Given the description of an element on the screen output the (x, y) to click on. 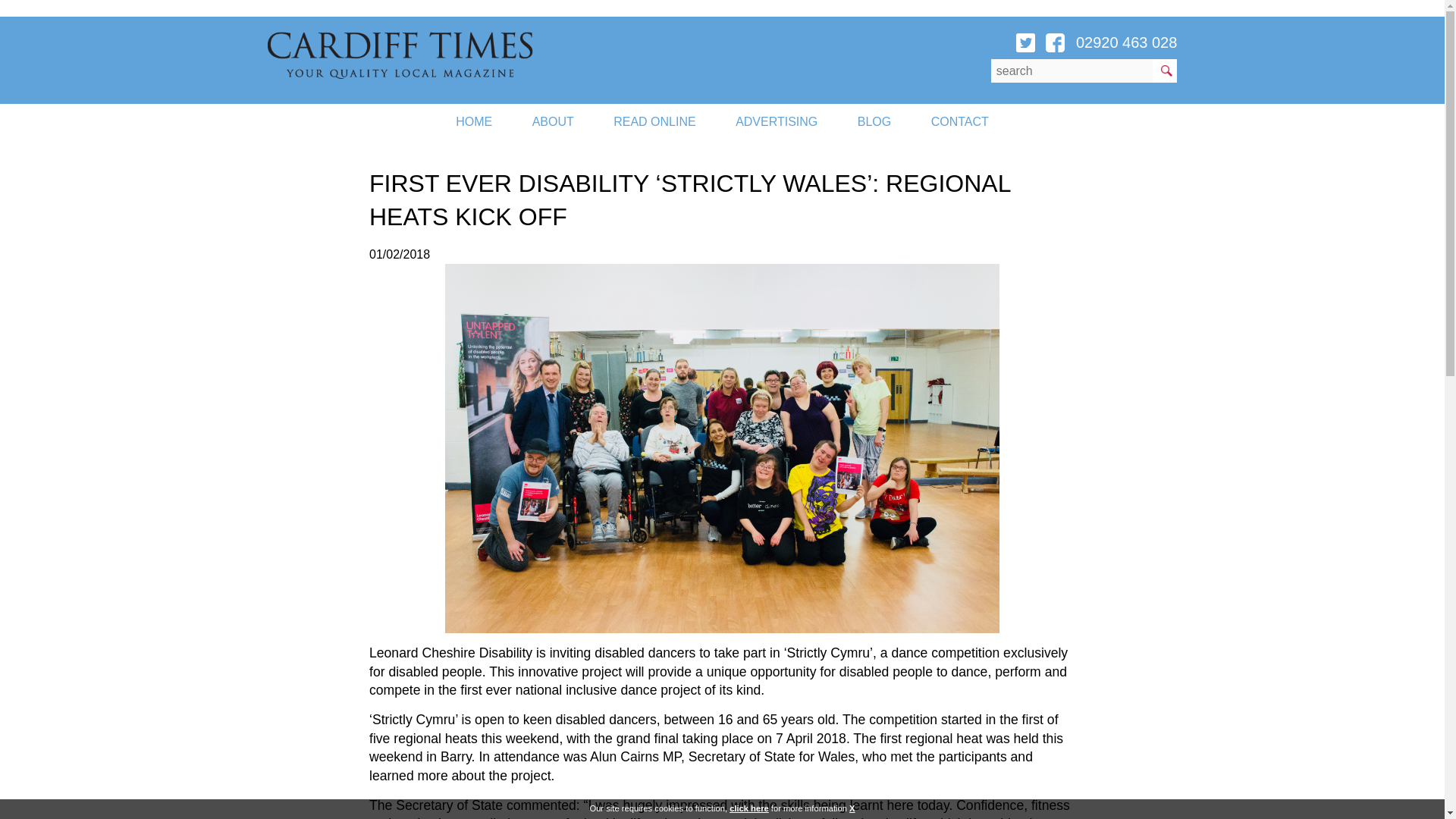
CONTACT (959, 122)
02920 463 028 (1125, 42)
BLOG (874, 122)
click here (748, 808)
READ ONLINE (654, 122)
ABOUT (552, 122)
ADVERTISING (776, 122)
HOME (474, 122)
